Given the description of an element on the screen output the (x, y) to click on. 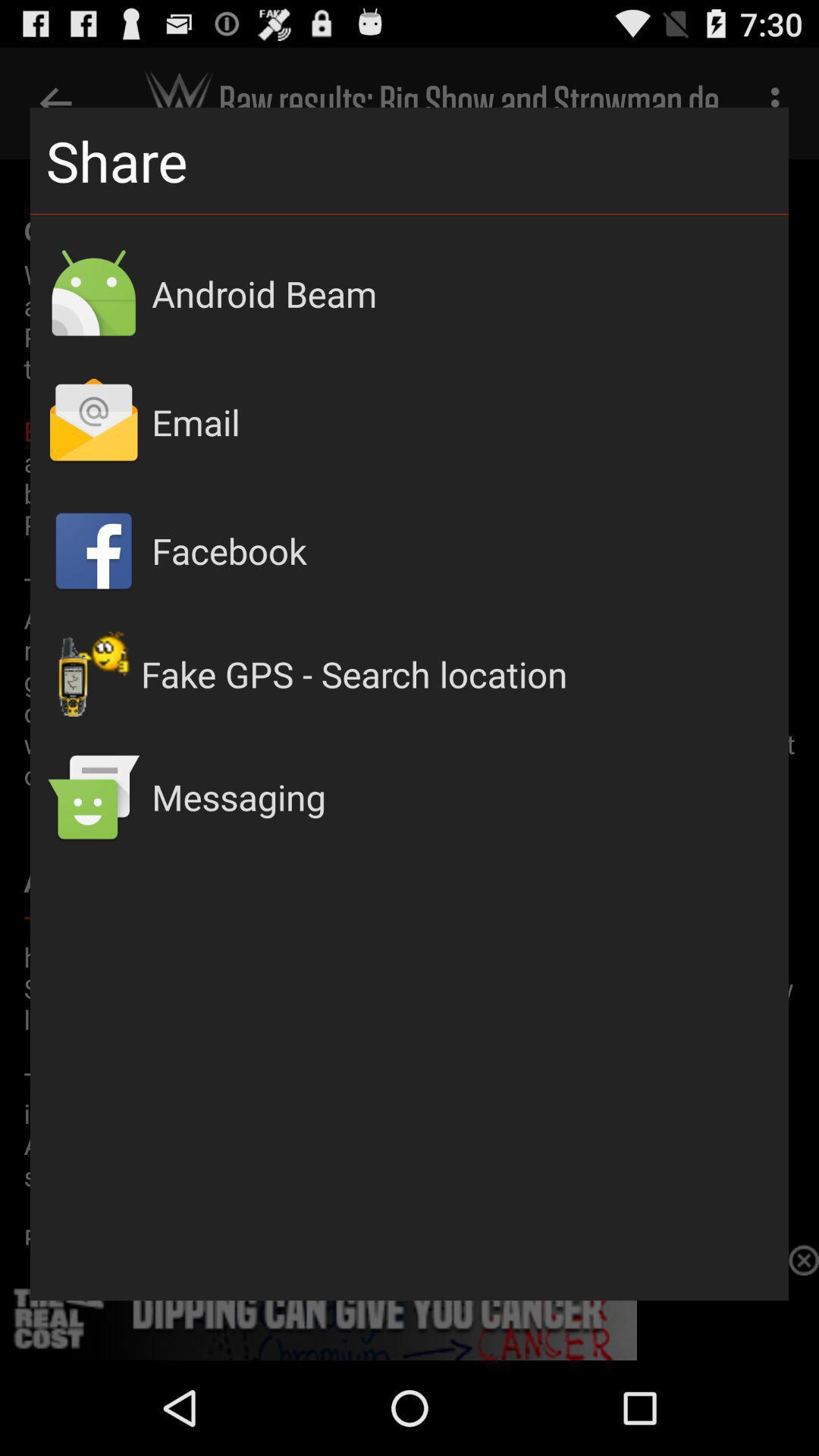
press the fake gps search app (456, 674)
